Given the description of an element on the screen output the (x, y) to click on. 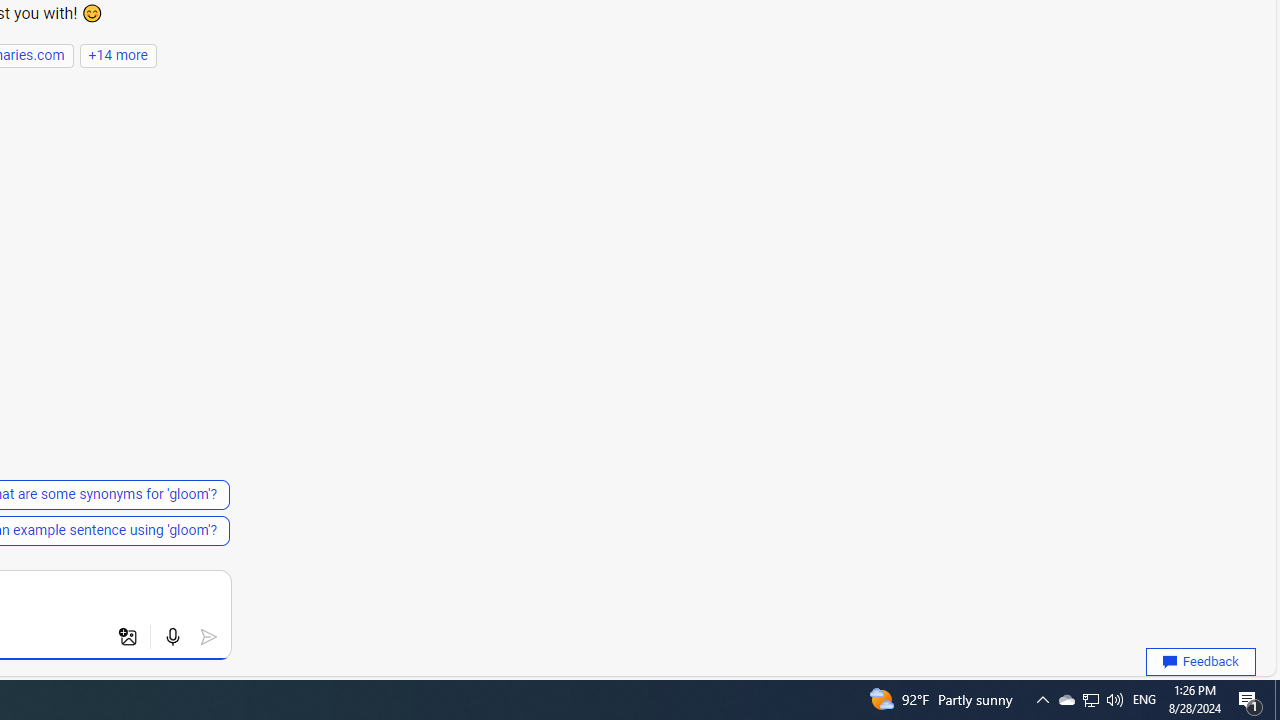
+14 more (118, 55)
Use microphone (172, 637)
Feedback (1200, 662)
Submit (208, 637)
Add an image to search (127, 637)
